Given the description of an element on the screen output the (x, y) to click on. 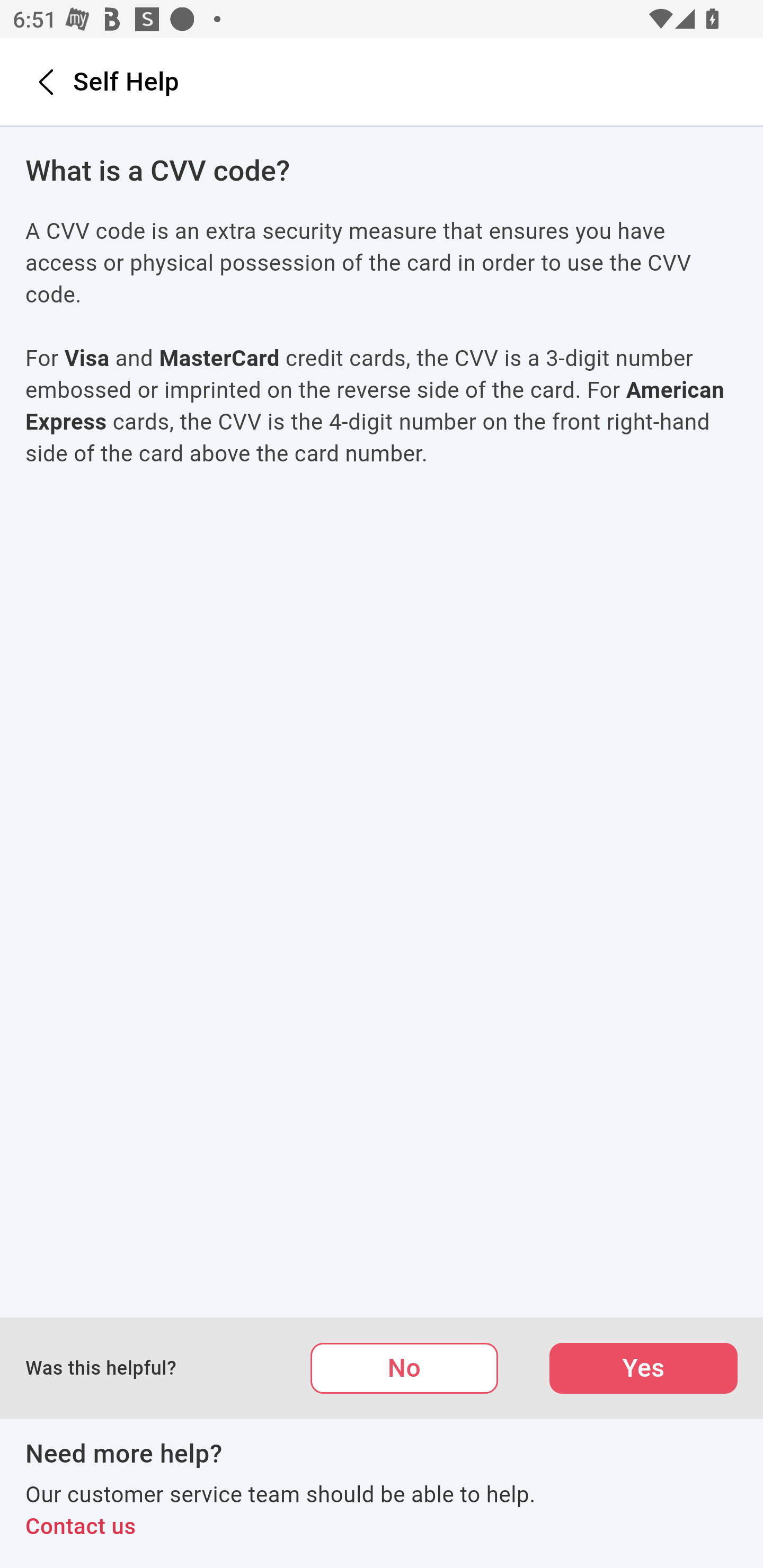
No (404, 1367)
Yes (642, 1367)
Contact us (381, 1526)
